Given the description of an element on the screen output the (x, y) to click on. 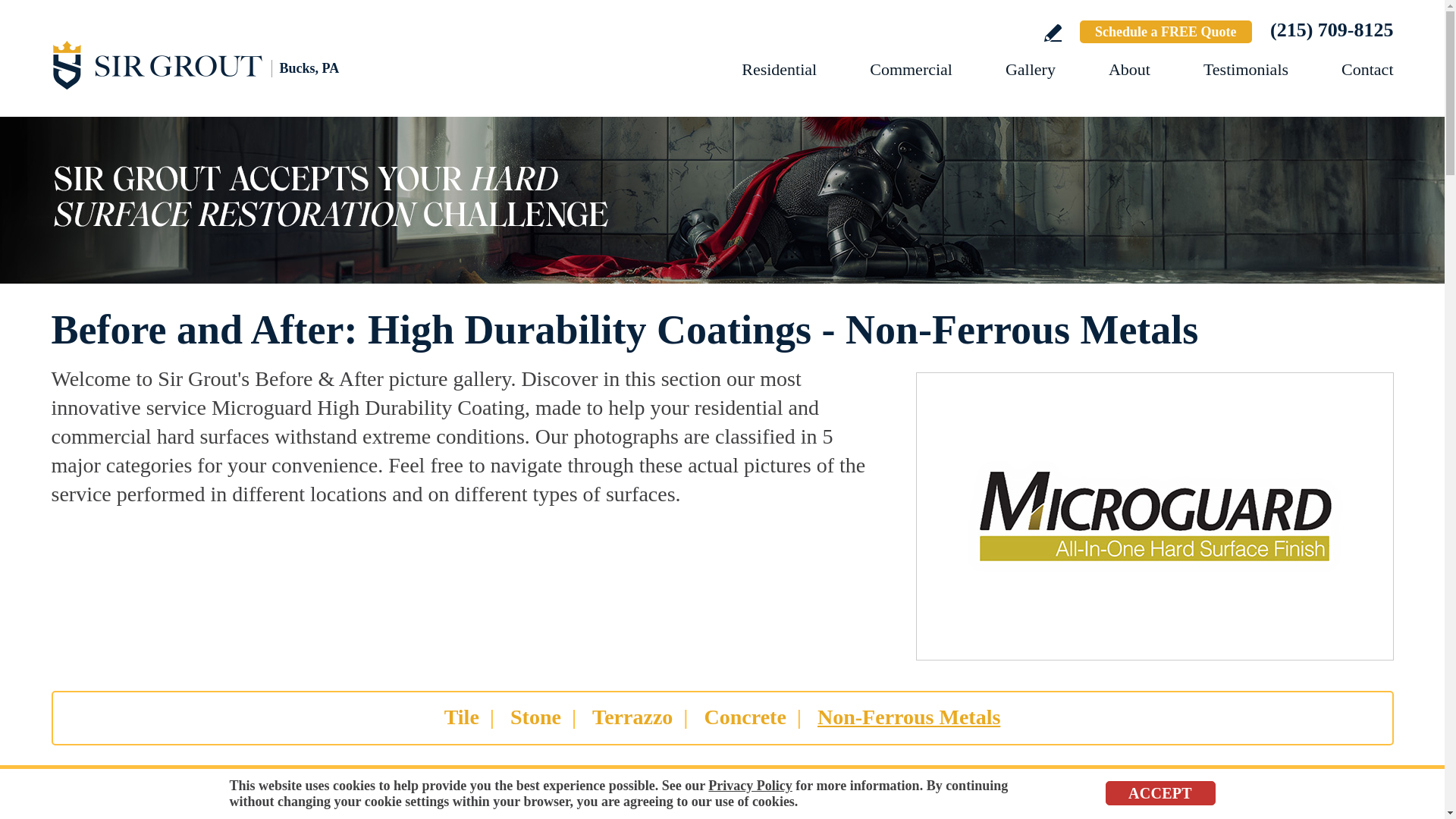
Contact (1366, 68)
Residential (778, 68)
Schedule a FREE Quote (1166, 31)
Gallery (1030, 68)
Residential Services (778, 68)
Commercial (910, 68)
Call Sir Grout Bucks PA (1331, 29)
Write a Review (1052, 32)
Write a Review (1052, 32)
About (1129, 68)
Bucks, PA (217, 64)
Schedule a FREE Quote (1166, 31)
Testimonials (1246, 68)
Sir Grout Bucks (217, 64)
